Given the description of an element on the screen output the (x, y) to click on. 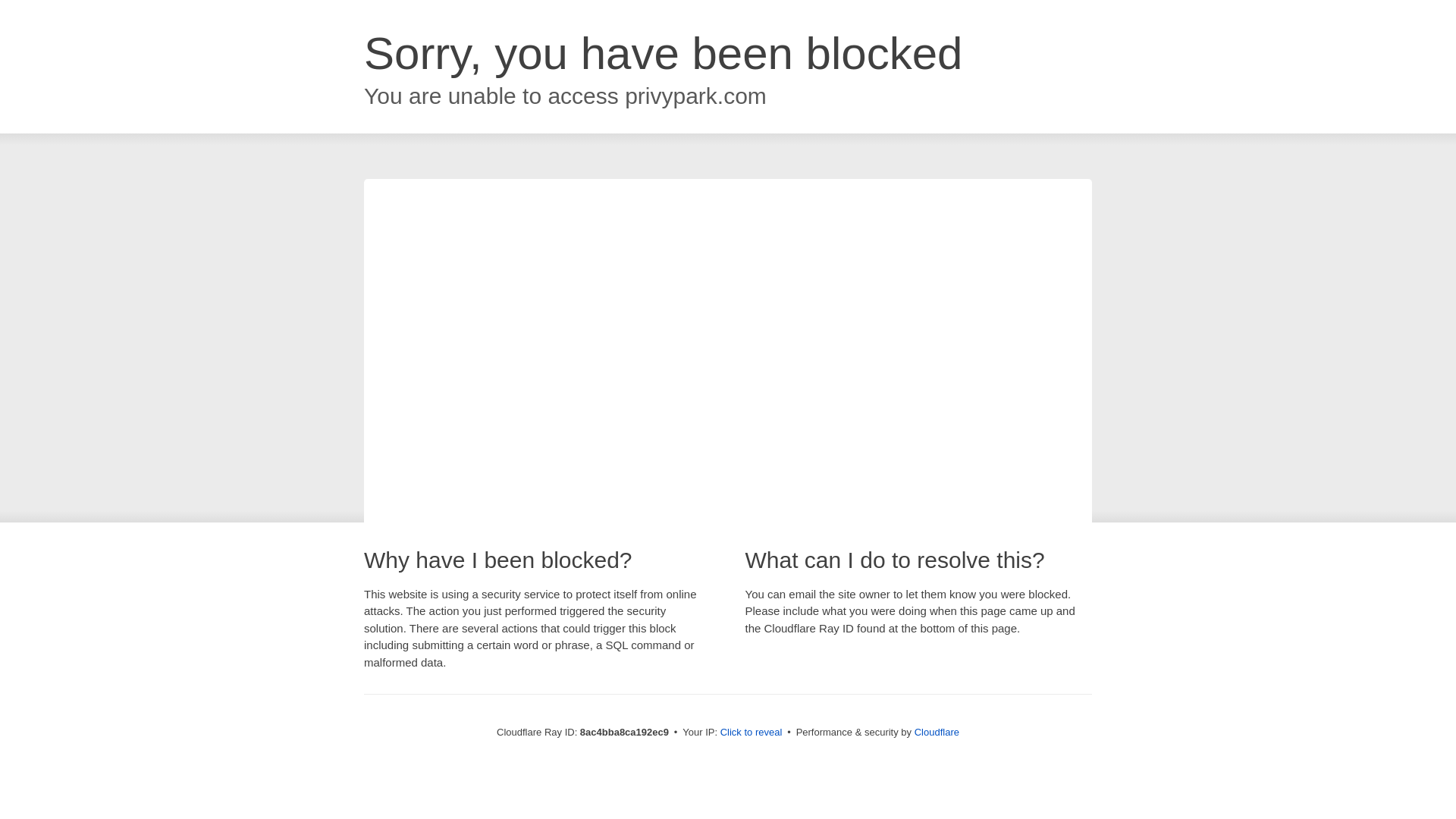
Click to reveal (751, 732)
Cloudflare (936, 731)
